Given the description of an element on the screen output the (x, y) to click on. 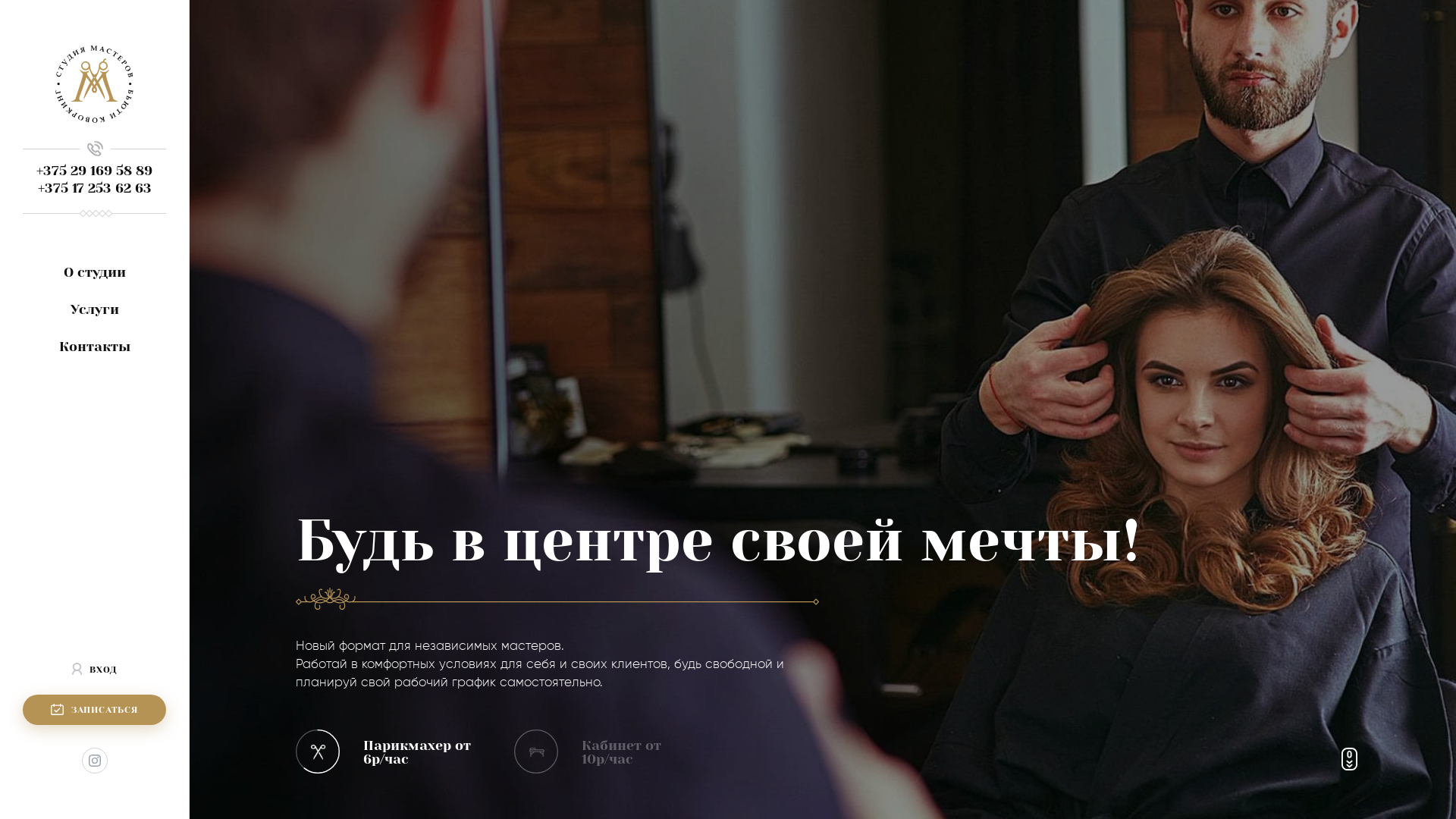
+375 17 253 62 63 Element type: text (94, 187)
+375 29 169 58 89 Element type: text (94, 170)
